Given the description of an element on the screen output the (x, y) to click on. 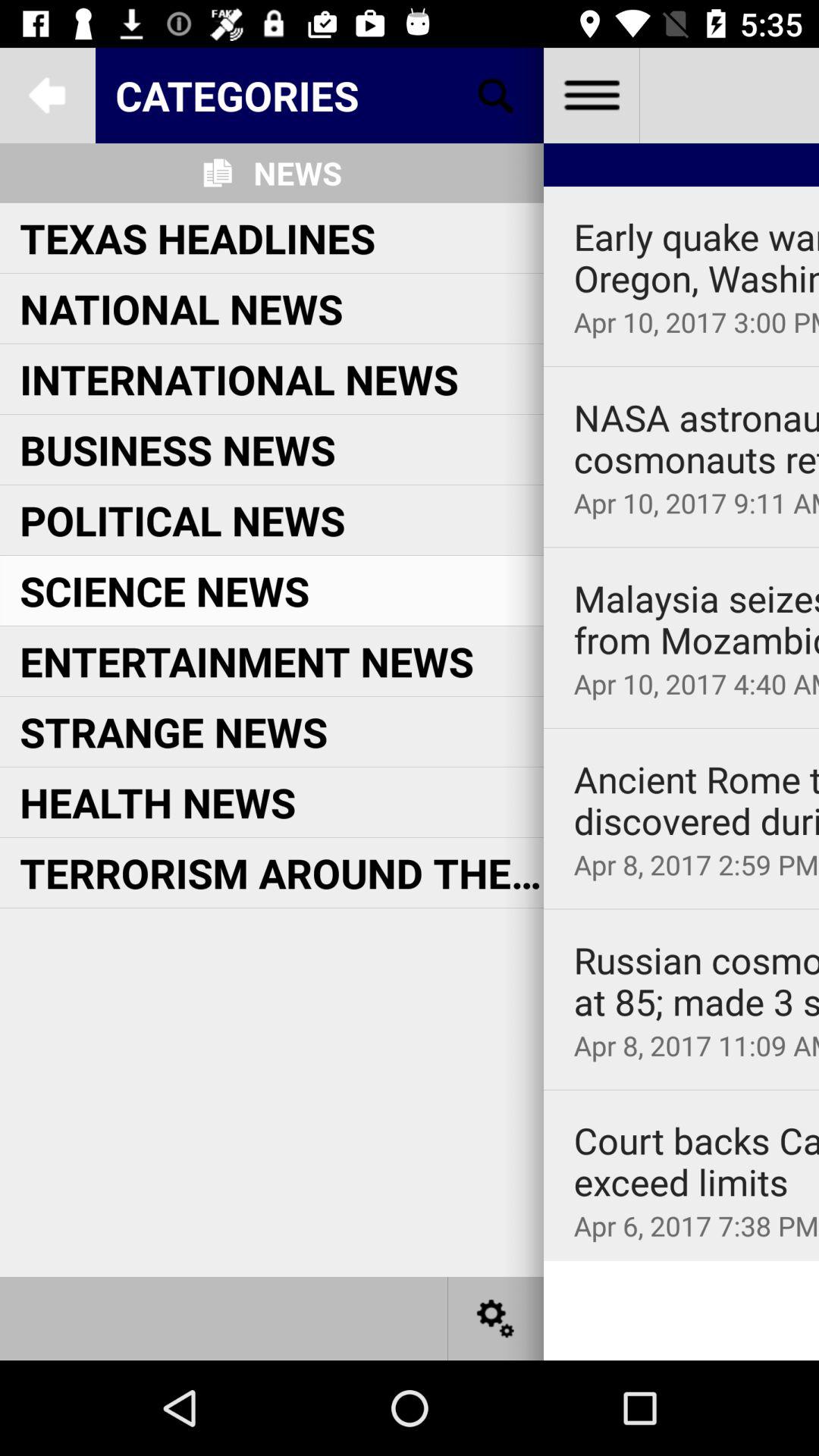
select icon below apr 10 2017 item (681, 547)
